Given the description of an element on the screen output the (x, y) to click on. 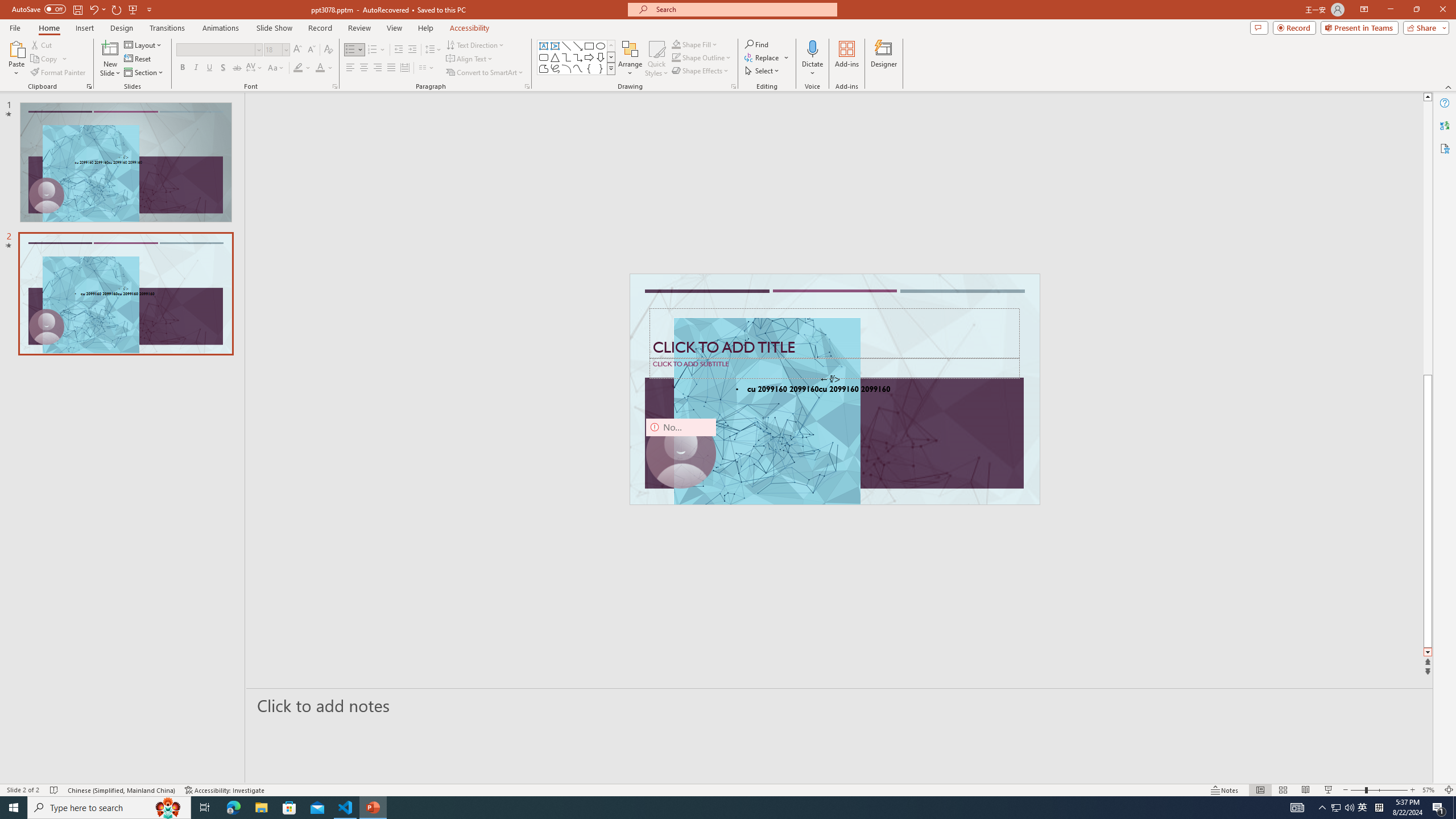
TextBox 7 (830, 379)
